Given the description of an element on the screen output the (x, y) to click on. 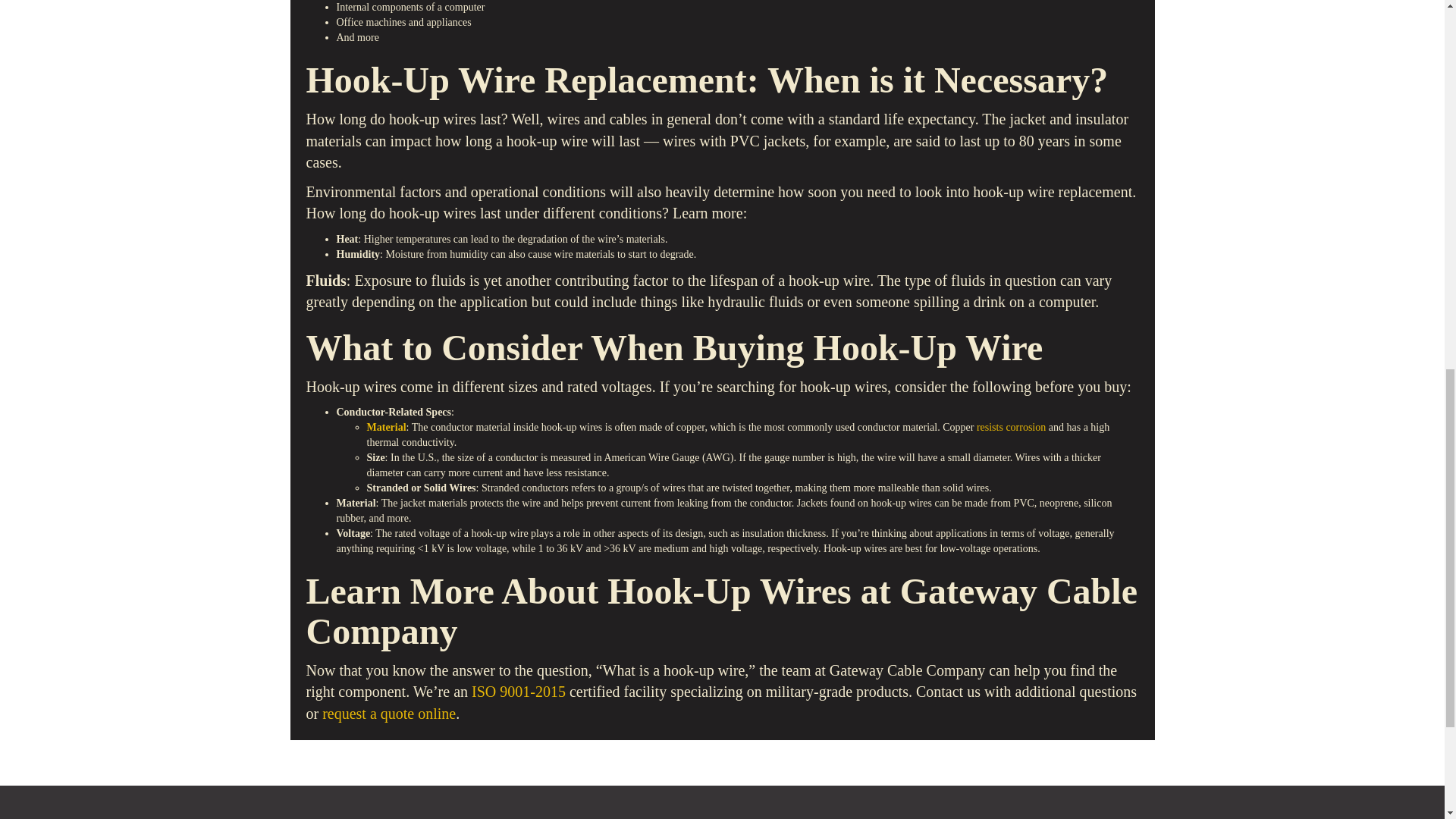
resists corrosion (1010, 427)
Material (386, 427)
request a quote online (388, 713)
ISO 9001-2015 (518, 691)
